Given the description of an element on the screen output the (x, y) to click on. 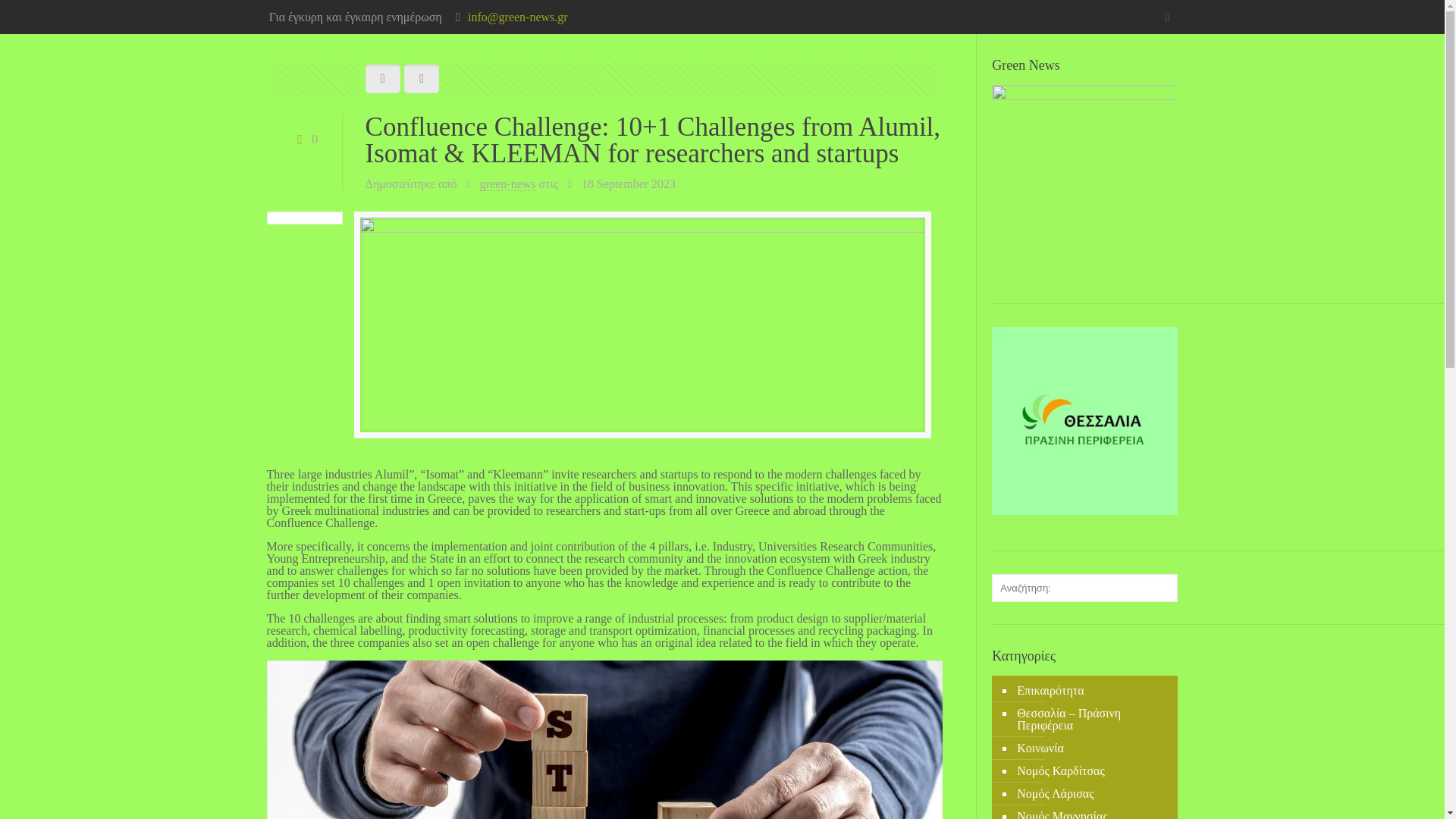
0 (303, 138)
green-news (507, 183)
Facebook (1166, 17)
